Given the description of an element on the screen output the (x, y) to click on. 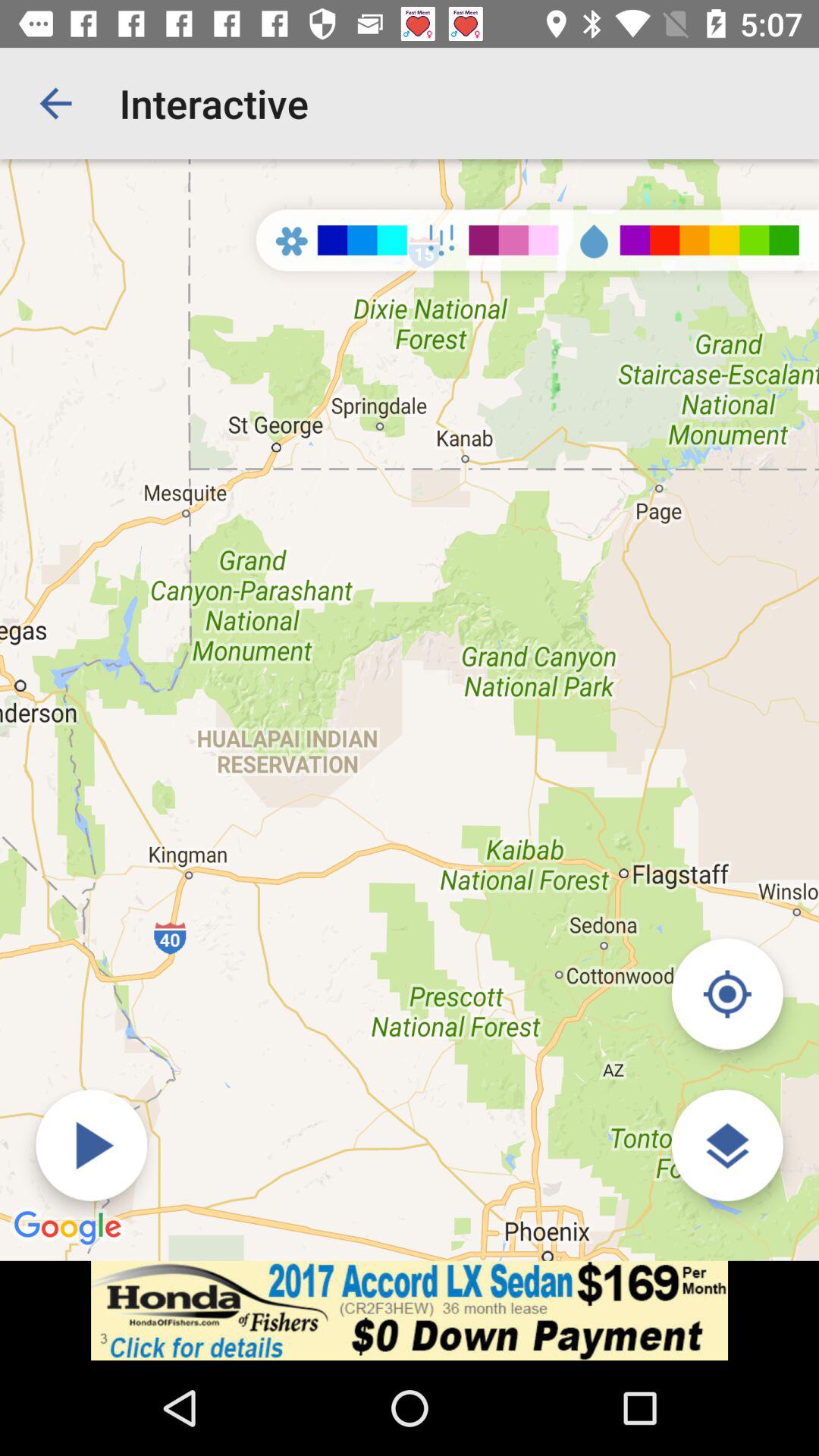
go to the forword (91, 1145)
